Given the description of an element on the screen output the (x, y) to click on. 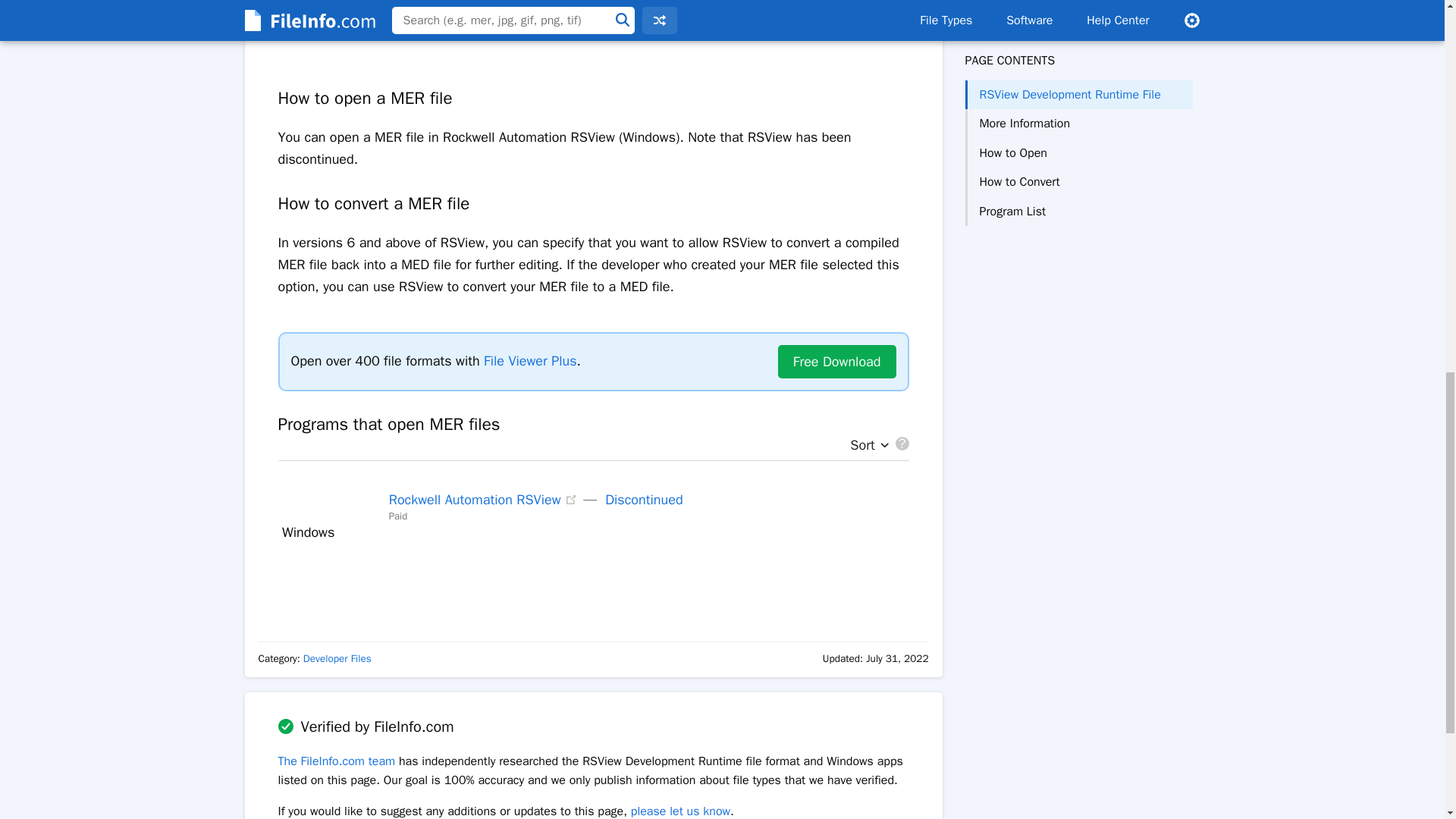
Sort (865, 445)
Discontinued (643, 499)
Developer Files (336, 658)
The FileInfo.com team (336, 761)
Rockwell Automation RSView (474, 499)
please let us know (680, 811)
